Given the description of an element on the screen output the (x, y) to click on. 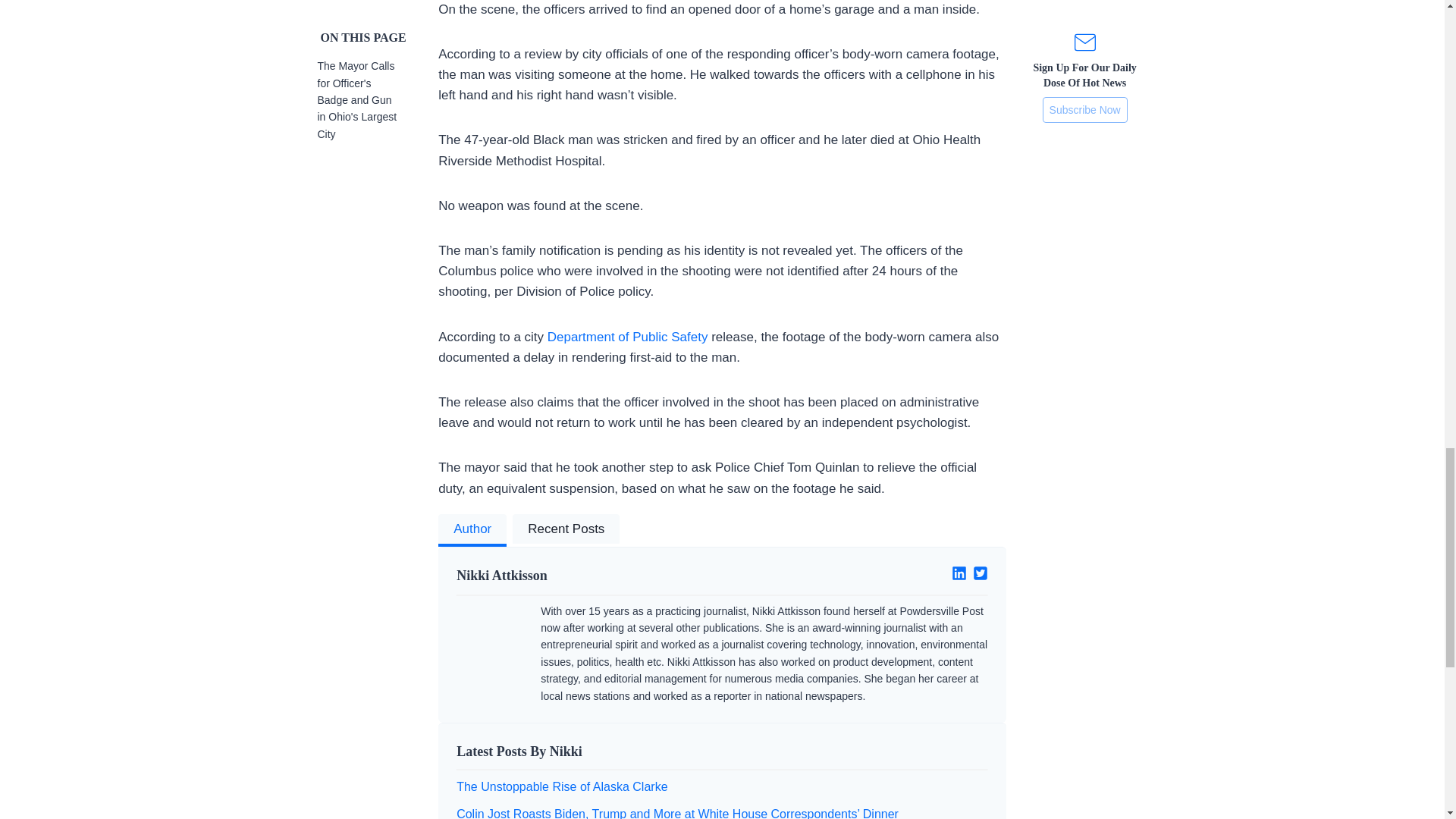
Author (472, 530)
Nikki Attkisson (583, 575)
Department of Public Safety (627, 336)
The Unstoppable Rise of Alaska Clarke (561, 786)
Recent Posts (566, 530)
